Given the description of an element on the screen output the (x, y) to click on. 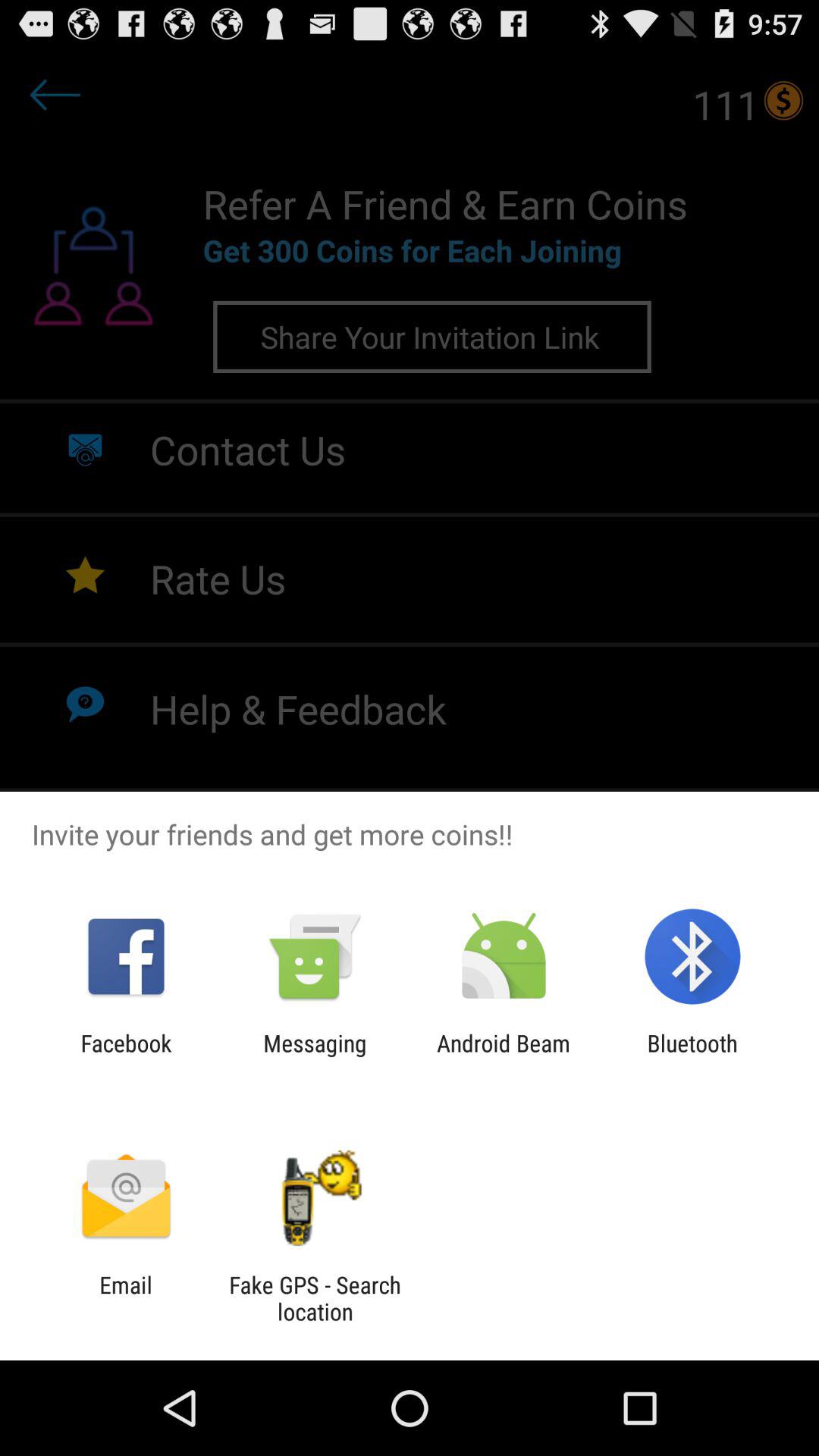
turn on the bluetooth (692, 1056)
